Given the description of an element on the screen output the (x, y) to click on. 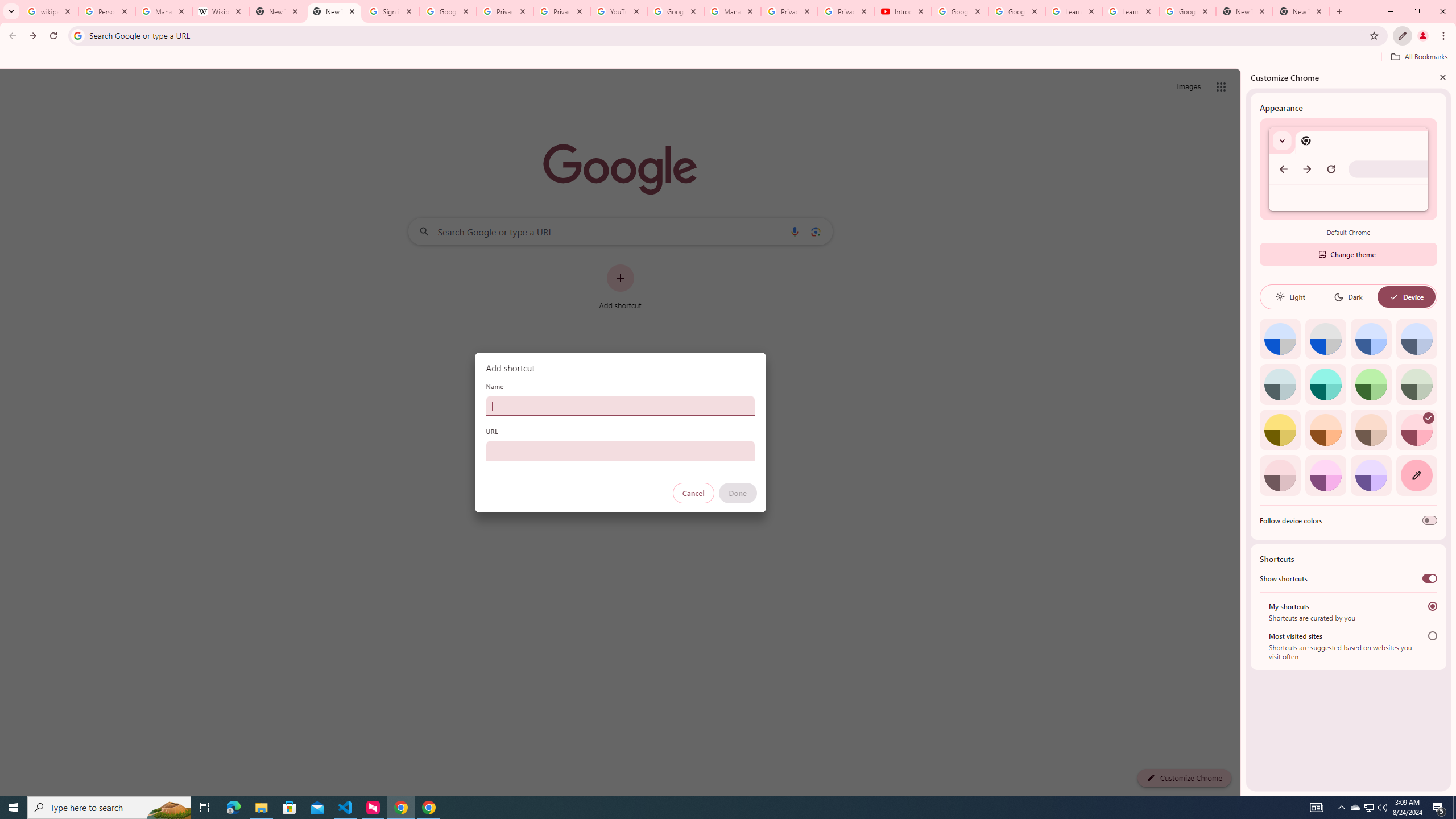
Show shortcuts (1429, 578)
Blue (1371, 338)
URL (620, 450)
My shortcuts (1432, 605)
Grey default color (1325, 338)
Google Account Help (959, 11)
New Tab (1301, 11)
Rose (1416, 429)
Orange (1325, 429)
Wikipedia:Edit requests - Wikipedia (220, 11)
Custom color (1416, 475)
